Given the description of an element on the screen output the (x, y) to click on. 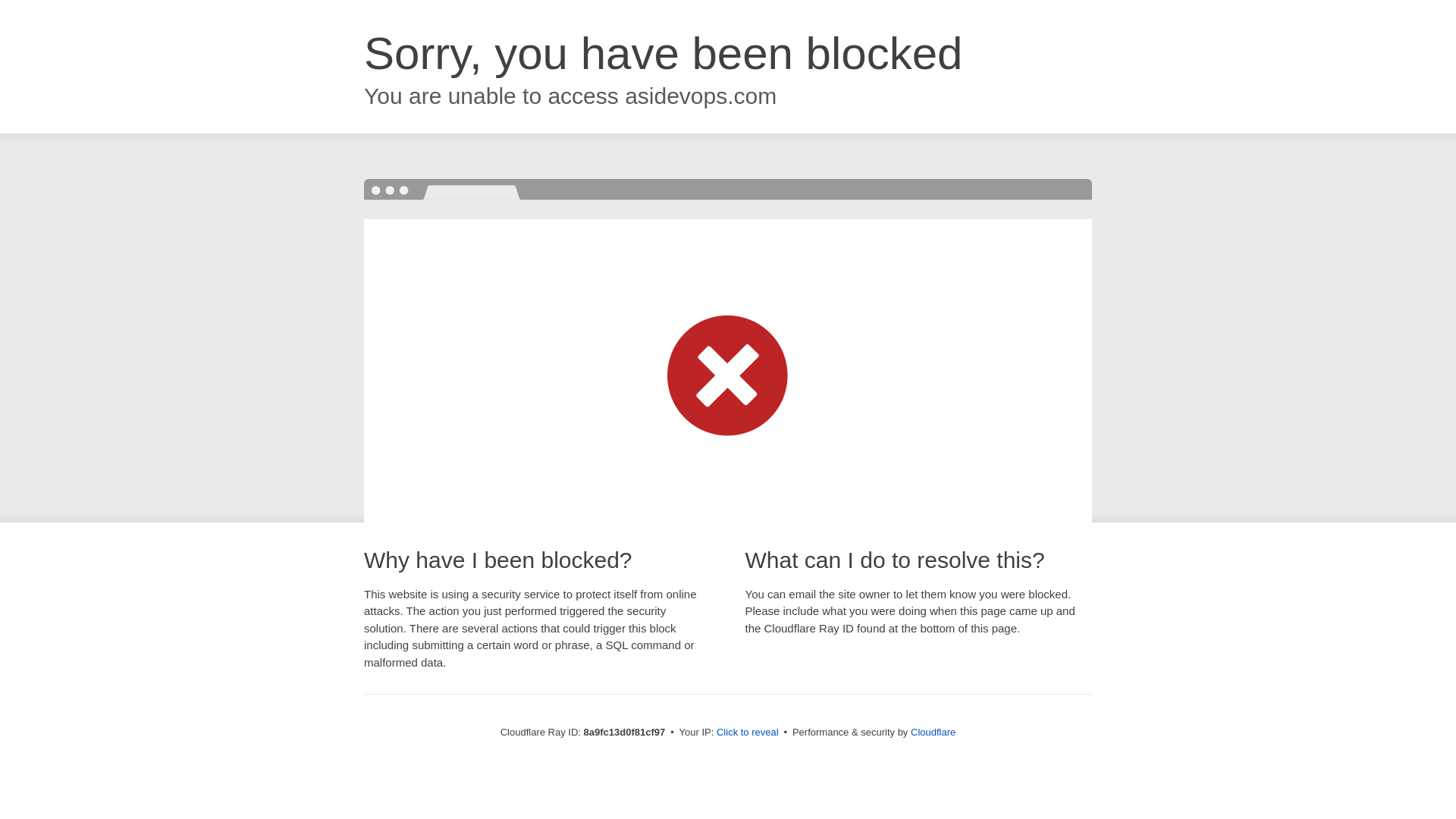
Click to reveal (747, 732)
Cloudflare (933, 731)
